Given the description of an element on the screen output the (x, y) to click on. 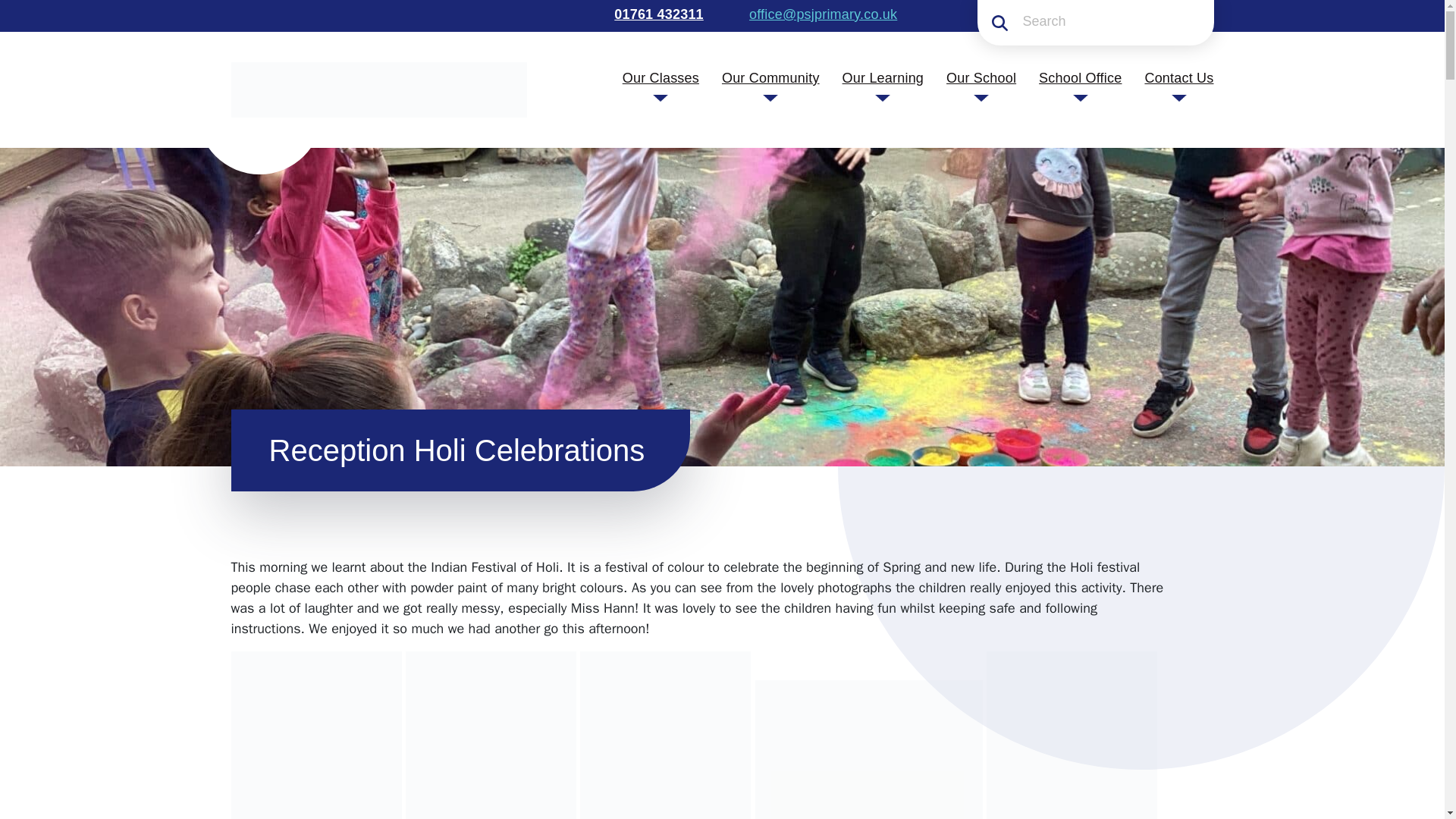
Our Classes (660, 77)
Our Classes (660, 77)
Our Community (770, 77)
01761 432311 (656, 14)
Our Community (770, 77)
Our Learning (883, 77)
Our School (981, 77)
